Given the description of an element on the screen output the (x, y) to click on. 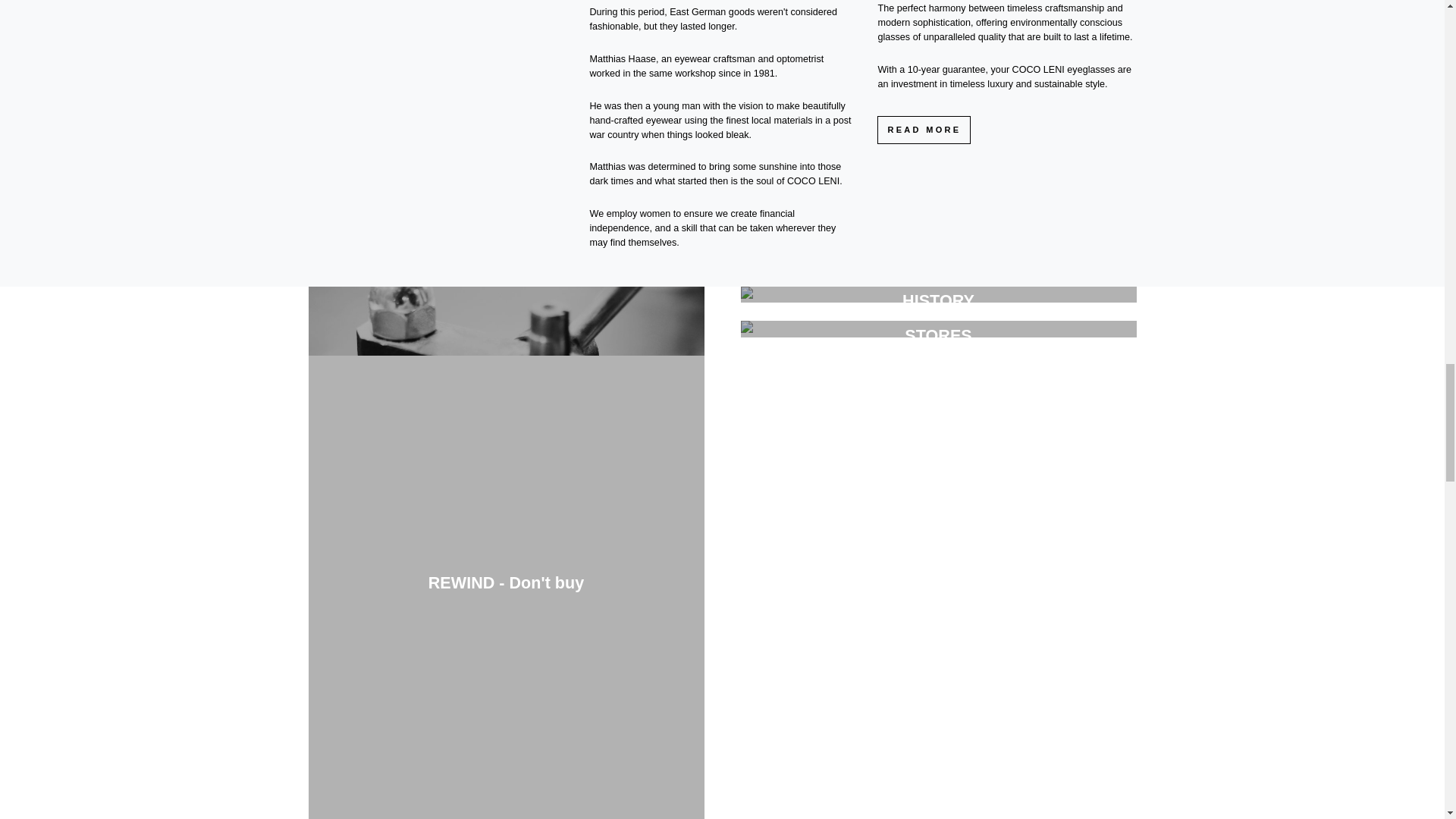
READ MORE (924, 129)
